Given the description of an element on the screen output the (x, y) to click on. 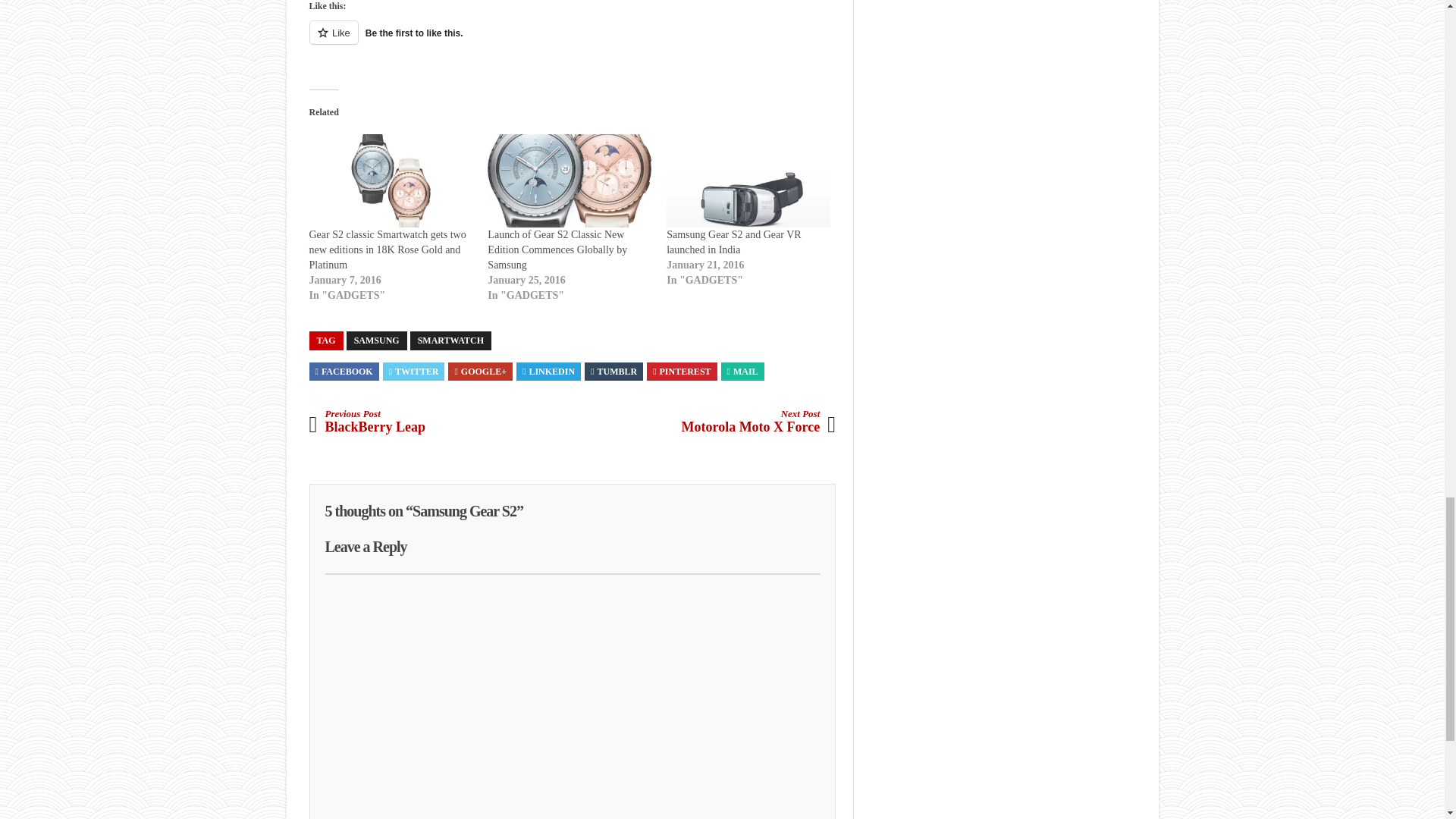
Facebook (343, 371)
